Given the description of an element on the screen output the (x, y) to click on. 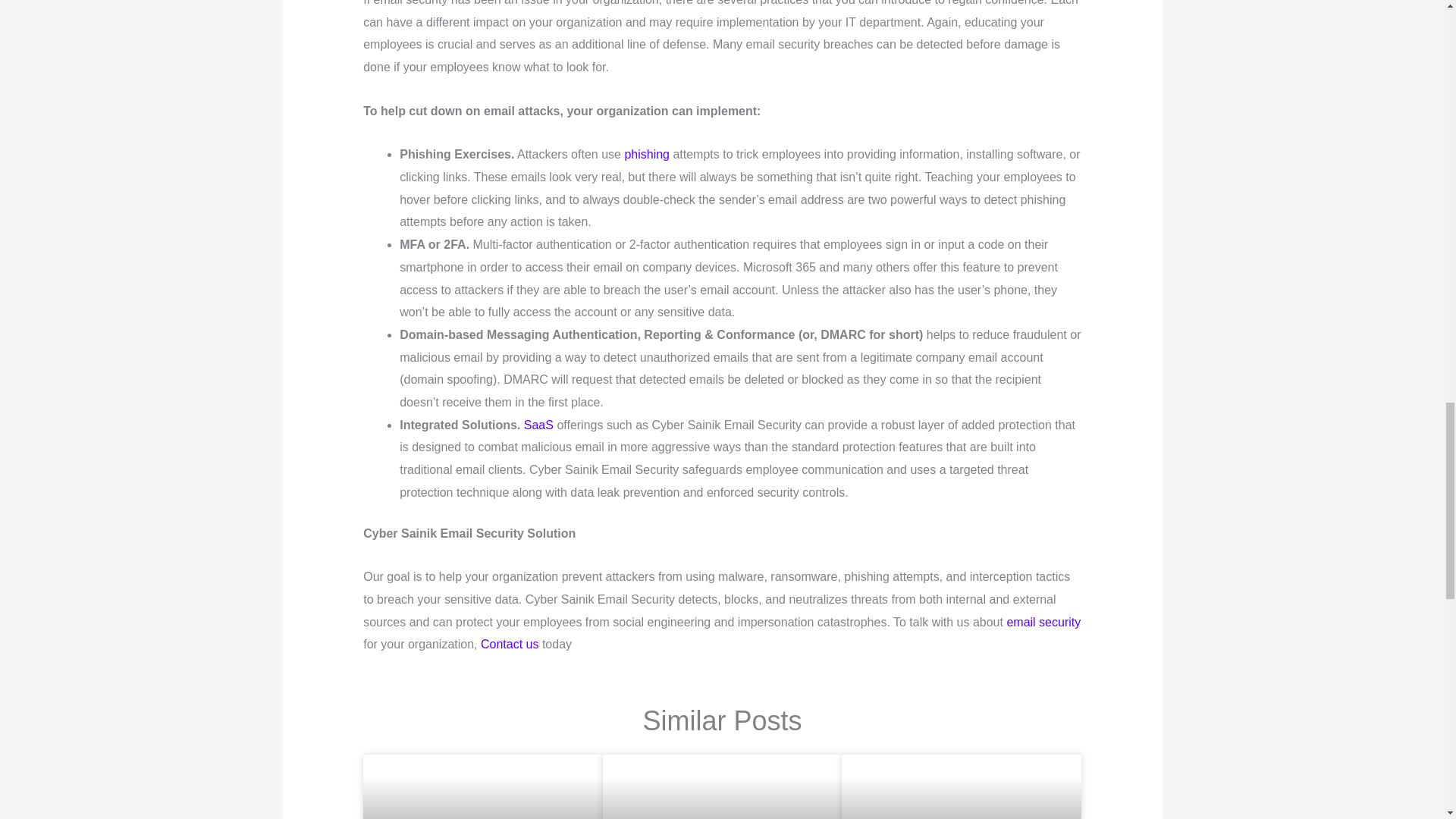
Contact us (509, 644)
email security (1043, 621)
SaaS (540, 424)
phishing (645, 154)
